Given the description of an element on the screen output the (x, y) to click on. 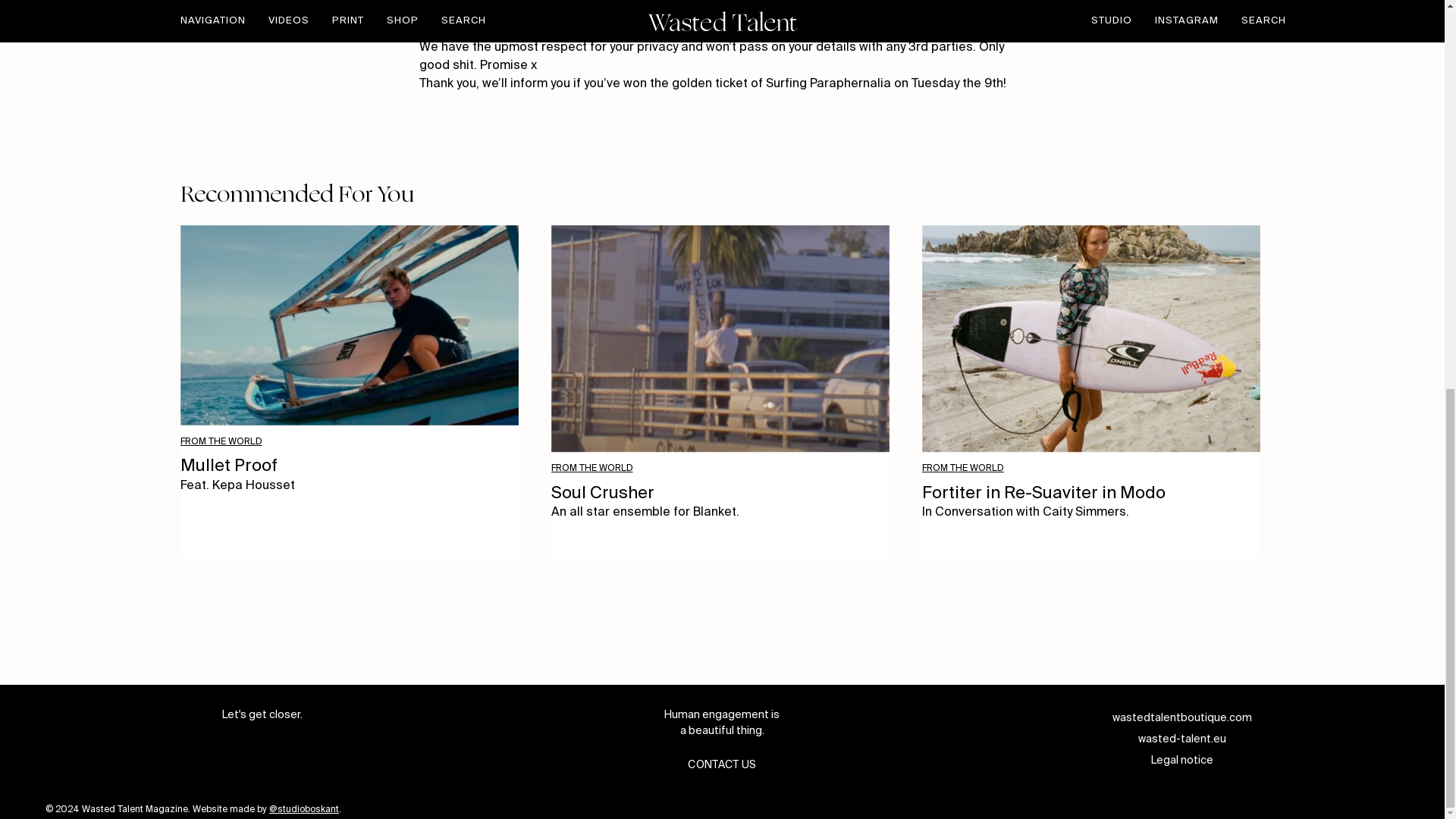
Dive in! (463, 18)
FROM THE WORLD (221, 441)
FROM THE WORLD (592, 468)
